Given the description of an element on the screen output the (x, y) to click on. 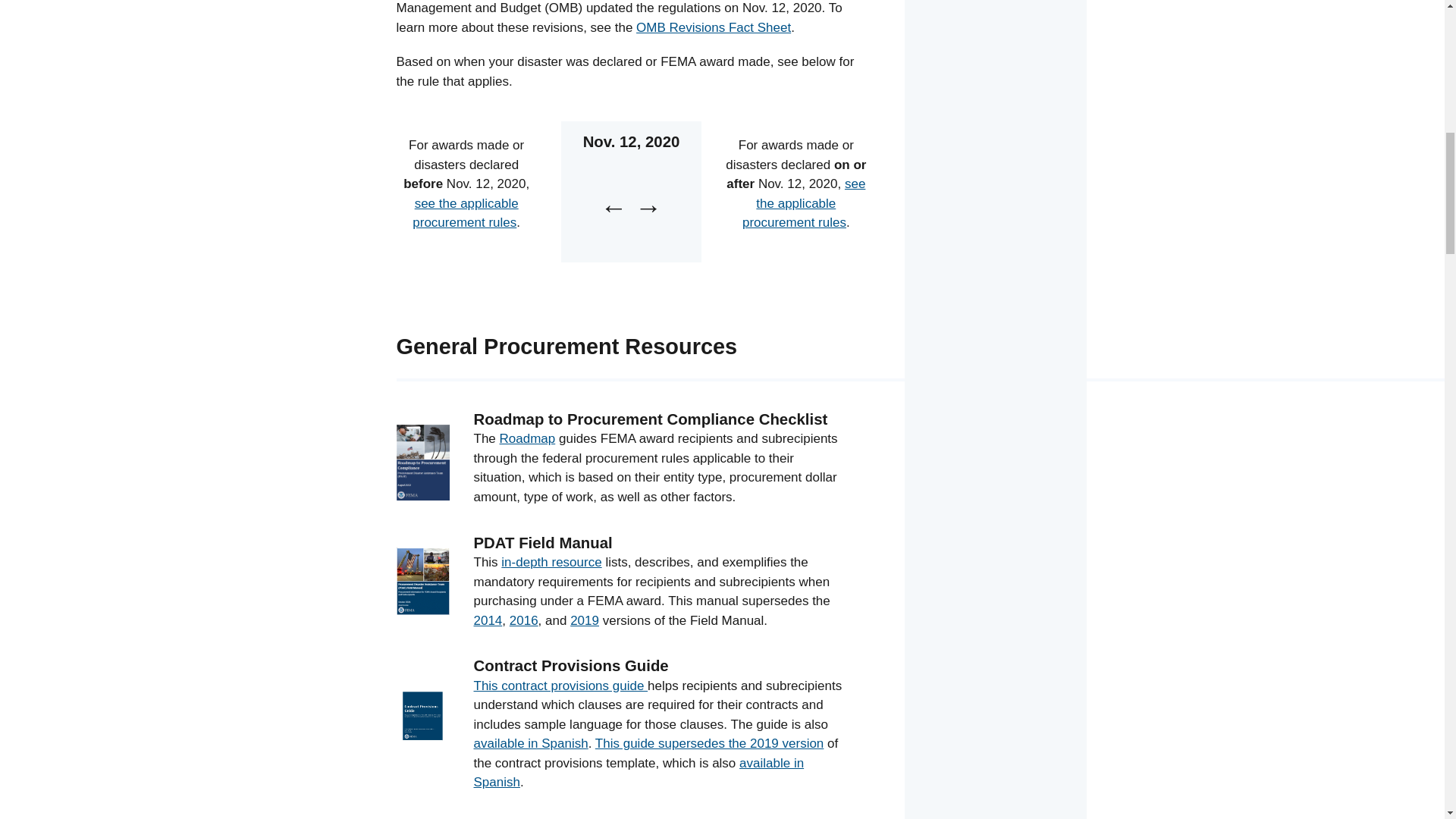
Roadmap (527, 438)
2021 Contract Provisions Guide in Spanish (530, 743)
see the applicable procurement rules (465, 213)
2019 contract provisions template in Spanish (638, 772)
OMB Revisions Fact Sheet (713, 27)
see the applicable procurement rules (803, 203)
in-depth resource (550, 562)
